Given the description of an element on the screen output the (x, y) to click on. 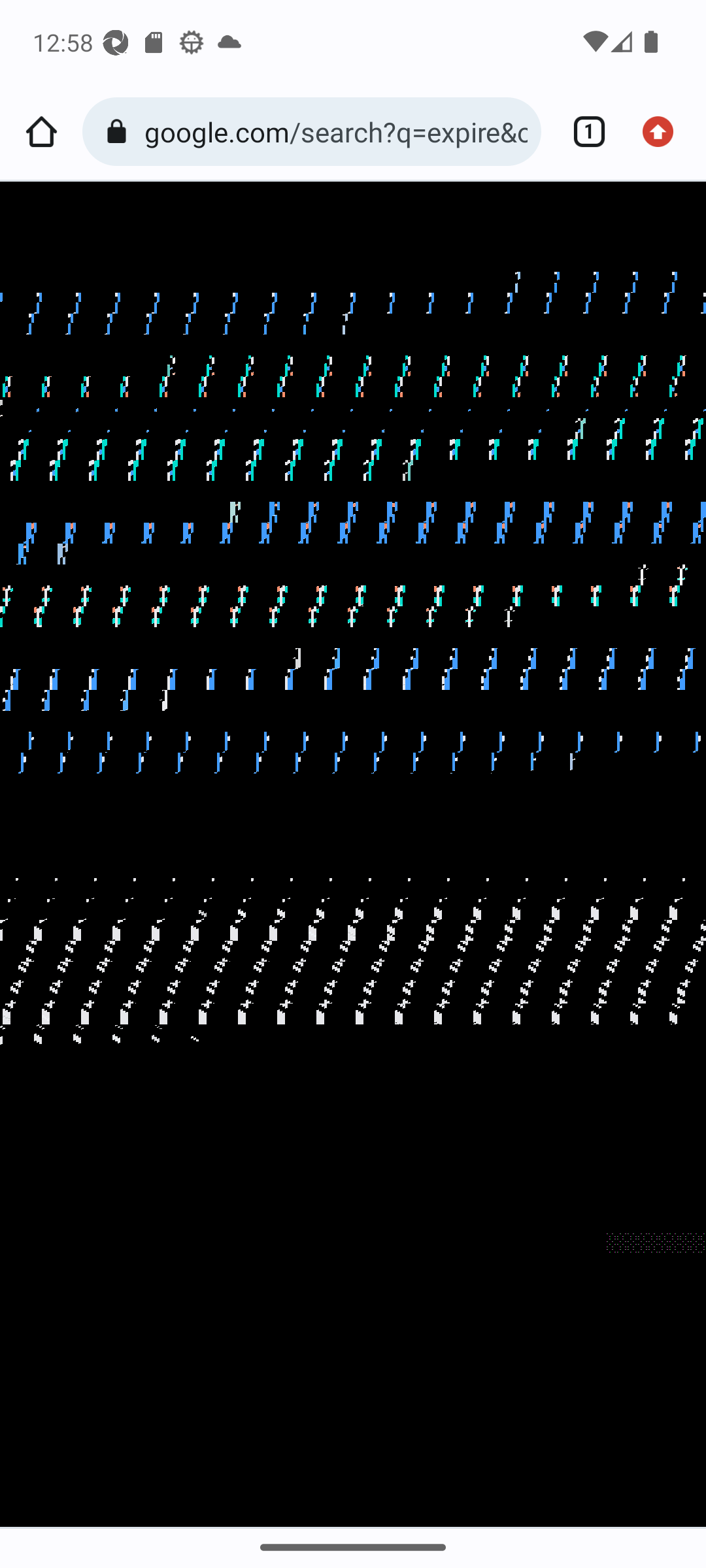
Home (41, 131)
Connection is secure (120, 131)
Switch or close tabs (582, 131)
Update available. More options (664, 131)
